Given the description of an element on the screen output the (x, y) to click on. 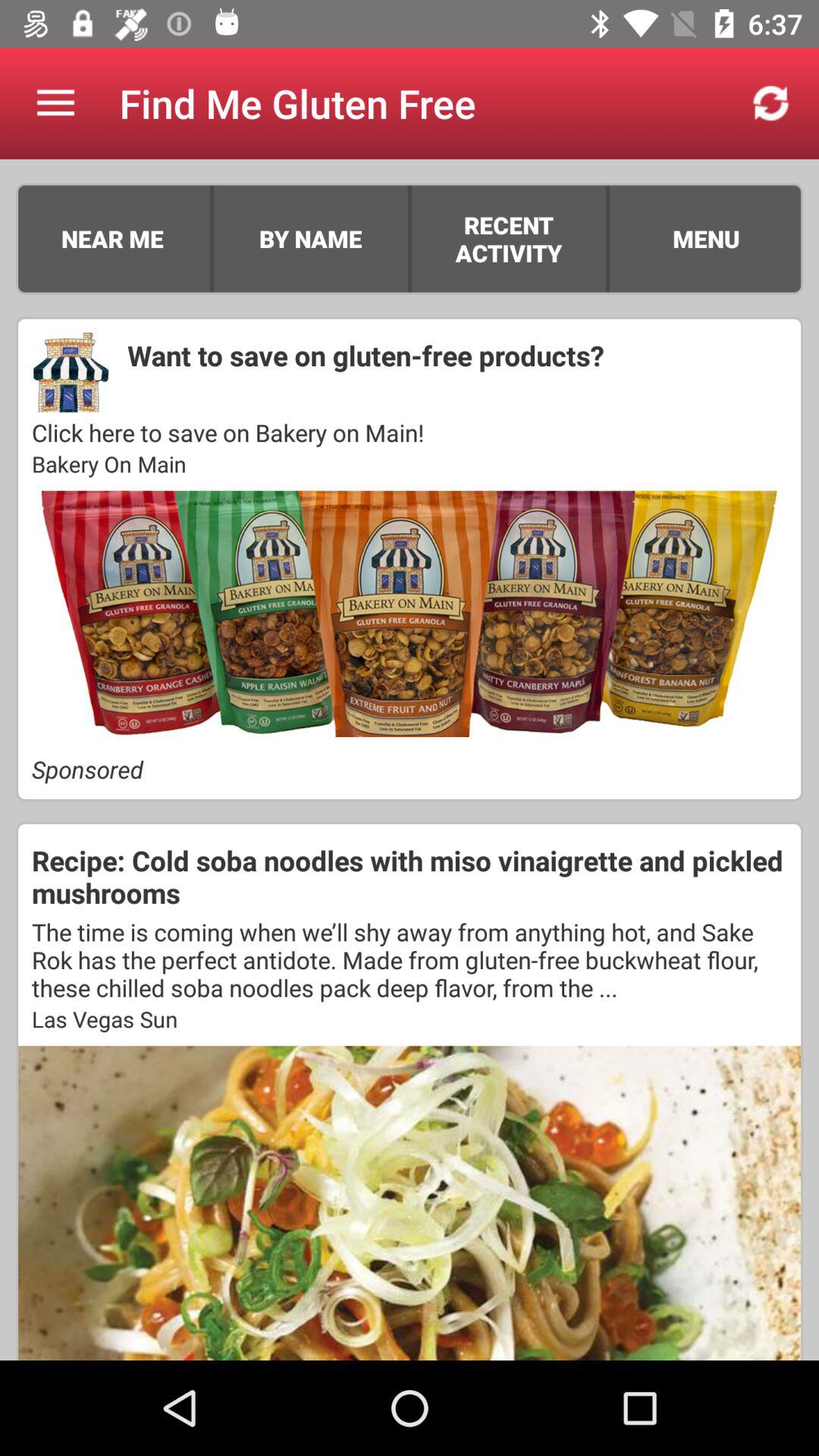
click near me item (112, 238)
